Given the description of an element on the screen output the (x, y) to click on. 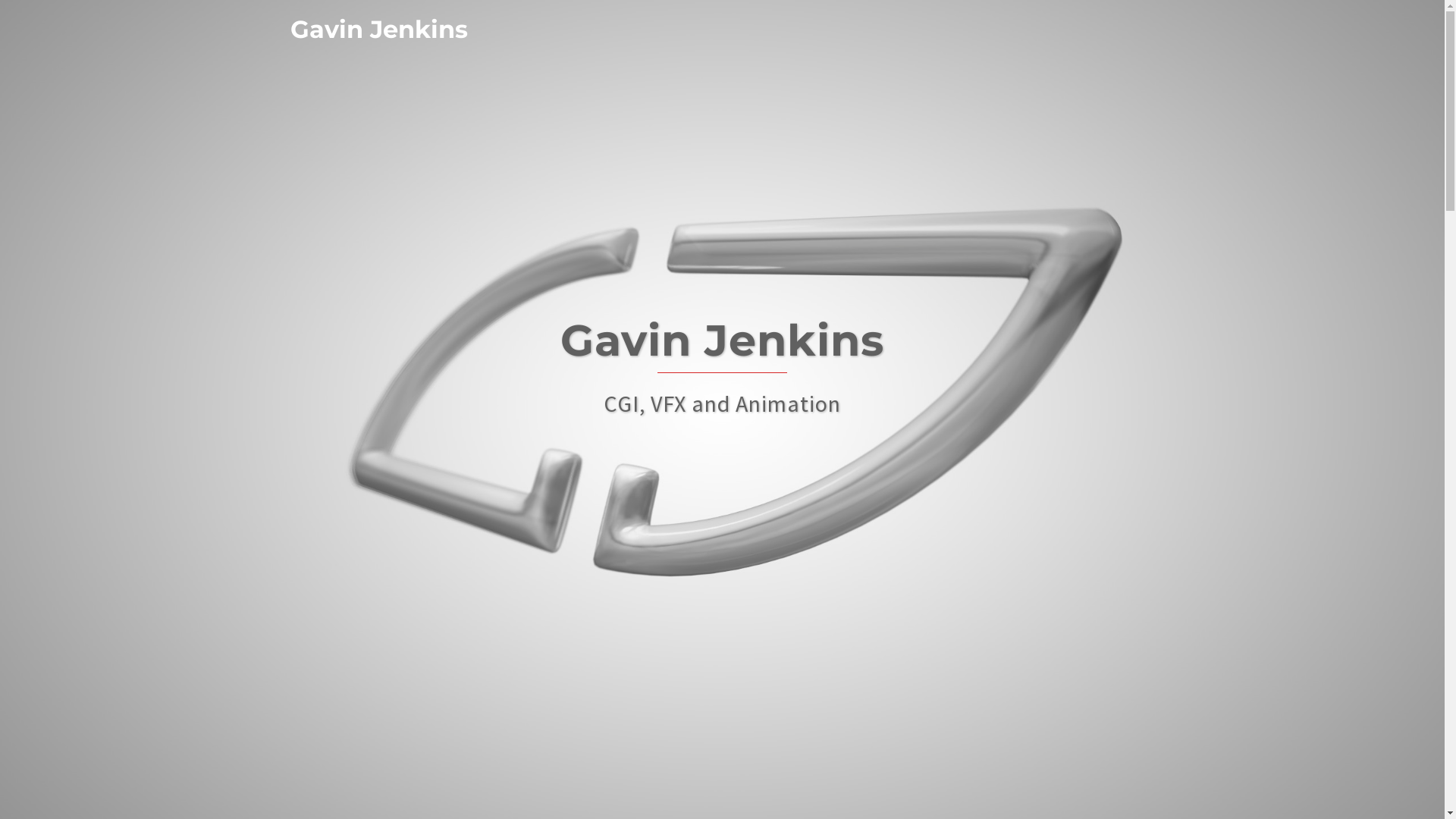
Gavin Jenkins Element type: text (378, 28)
Skip to content Element type: text (0, 0)
